Given the description of an element on the screen output the (x, y) to click on. 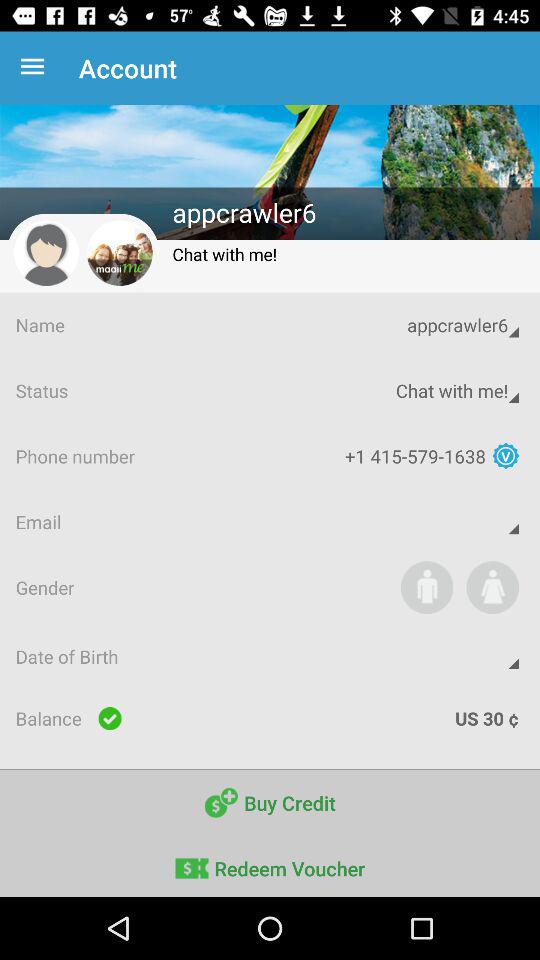
launch the redeem voucher item (270, 865)
